Given the description of an element on the screen output the (x, y) to click on. 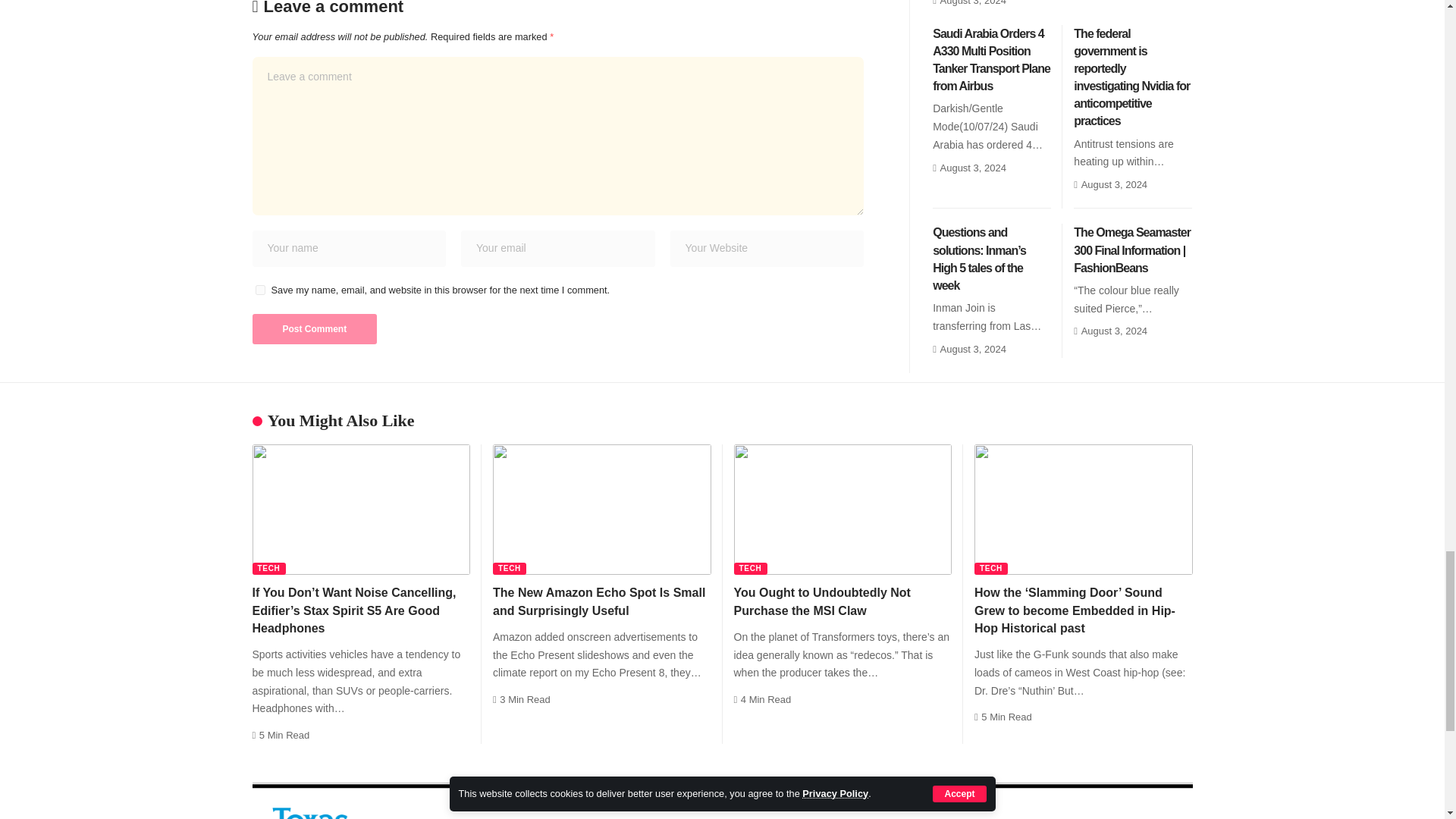
The New Amazon Echo Spot Is Small and Surprisingly Useful (602, 509)
Post Comment (314, 328)
yes (259, 289)
You Ought to Undoubtedly Not Purchase the MSI Claw (842, 509)
